Given the description of an element on the screen output the (x, y) to click on. 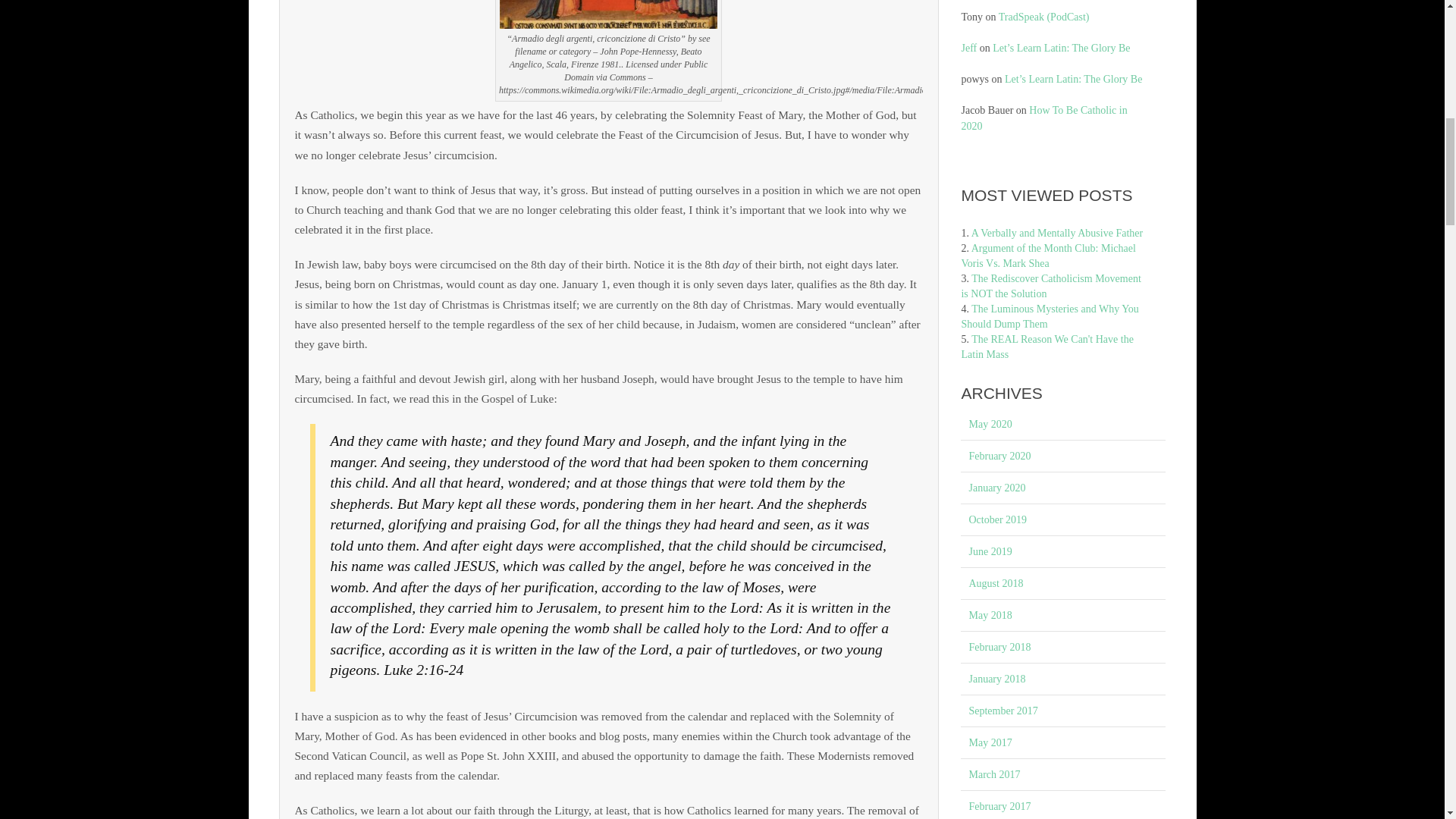
Jeff (968, 48)
How To Be Catholic in 2020 (1043, 117)
Argument of the Month Club: Michael Voris Vs. Mark Shea (1047, 255)
A Verbally and Mentally Abusive Father (1056, 233)
